Given the description of an element on the screen output the (x, y) to click on. 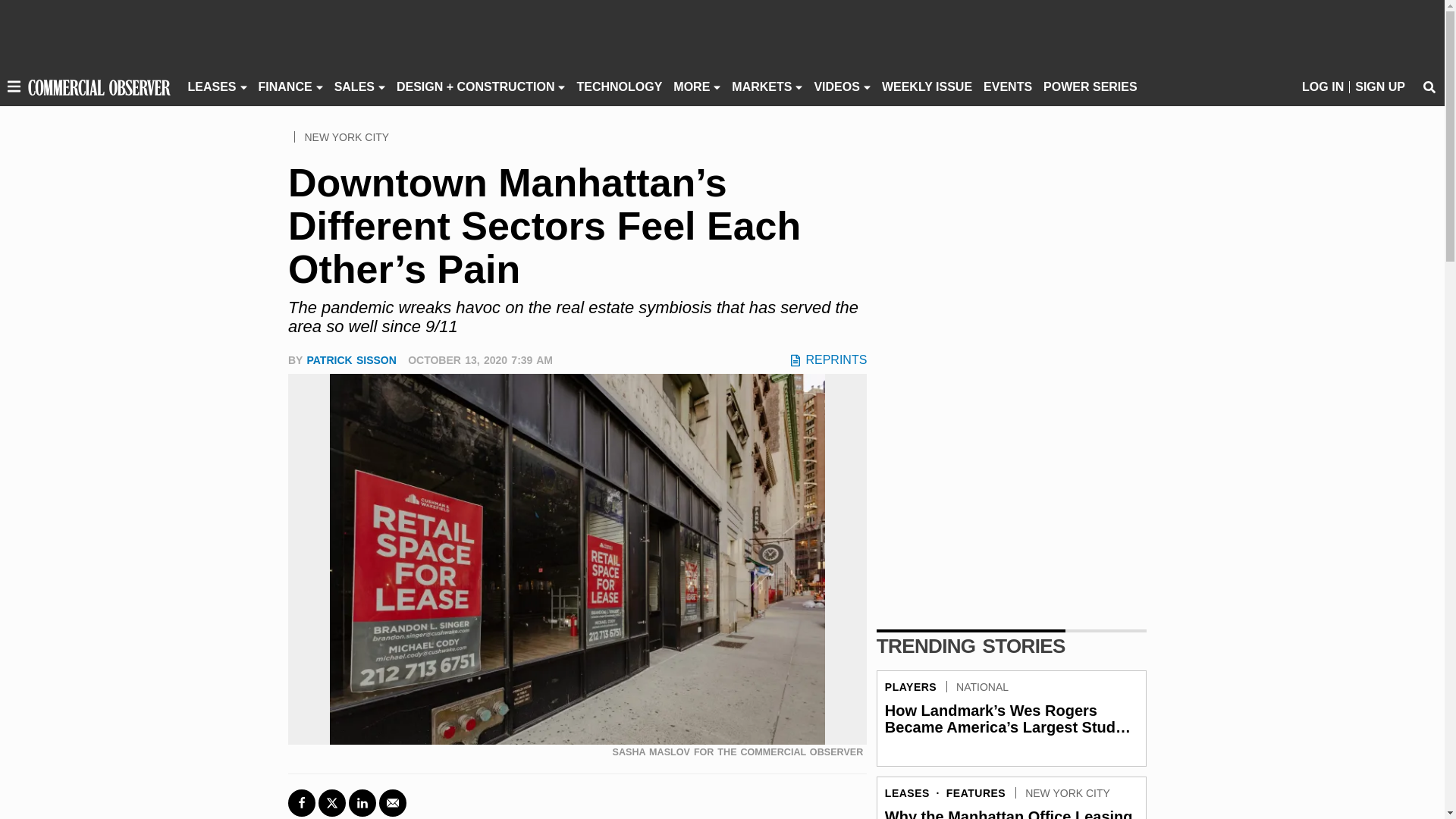
SALES (354, 86)
Send email (392, 802)
FINANCE (286, 86)
Share on LinkedIn (362, 802)
LEASES (211, 86)
TECHNOLOGY (619, 86)
Share on Facebook (301, 802)
Posts by Patrick Sisson (350, 359)
MORE (691, 86)
Tweet (332, 802)
